Given the description of an element on the screen output the (x, y) to click on. 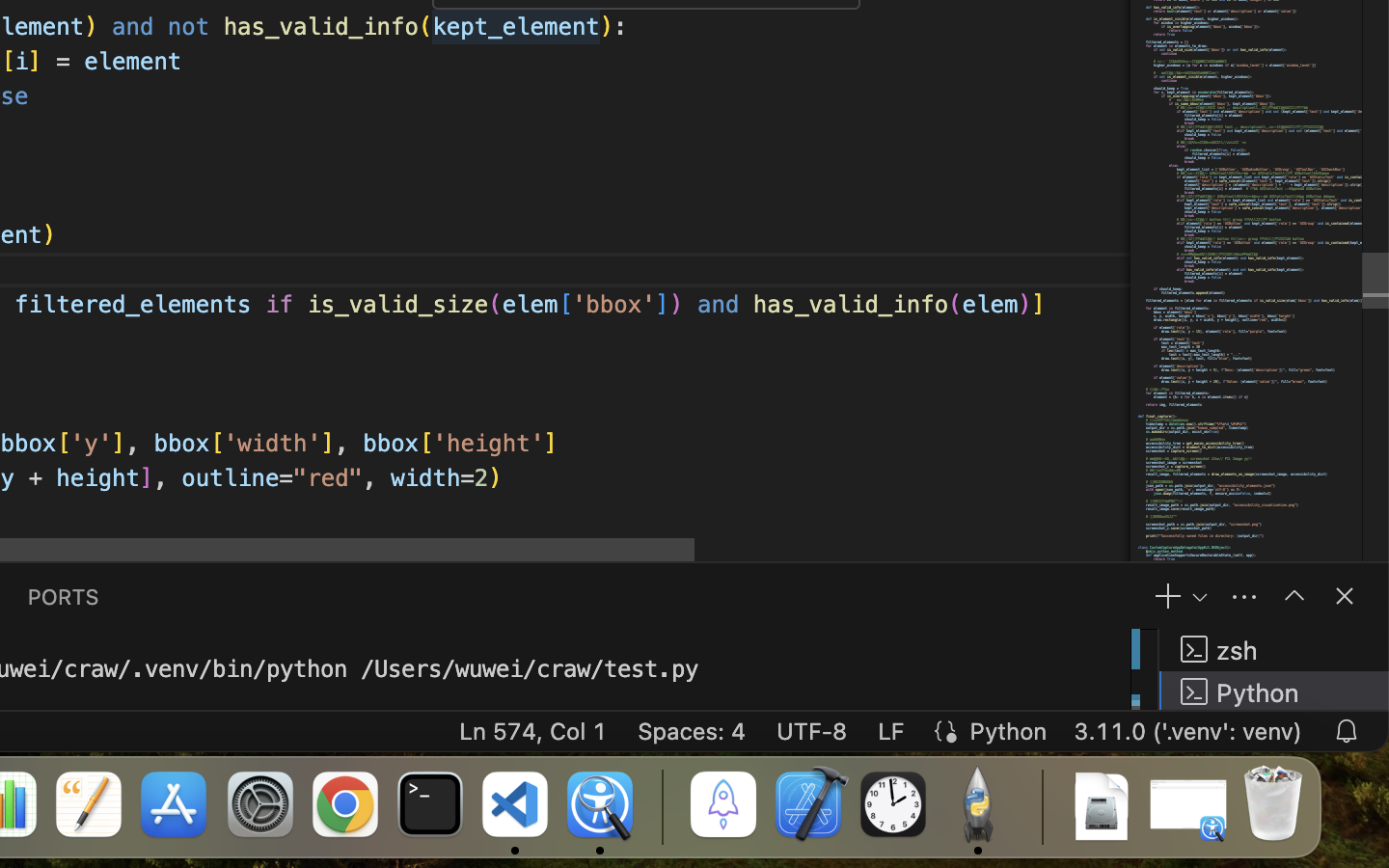
 Element type: AXButton (1344, 595)
